Given the description of an element on the screen output the (x, y) to click on. 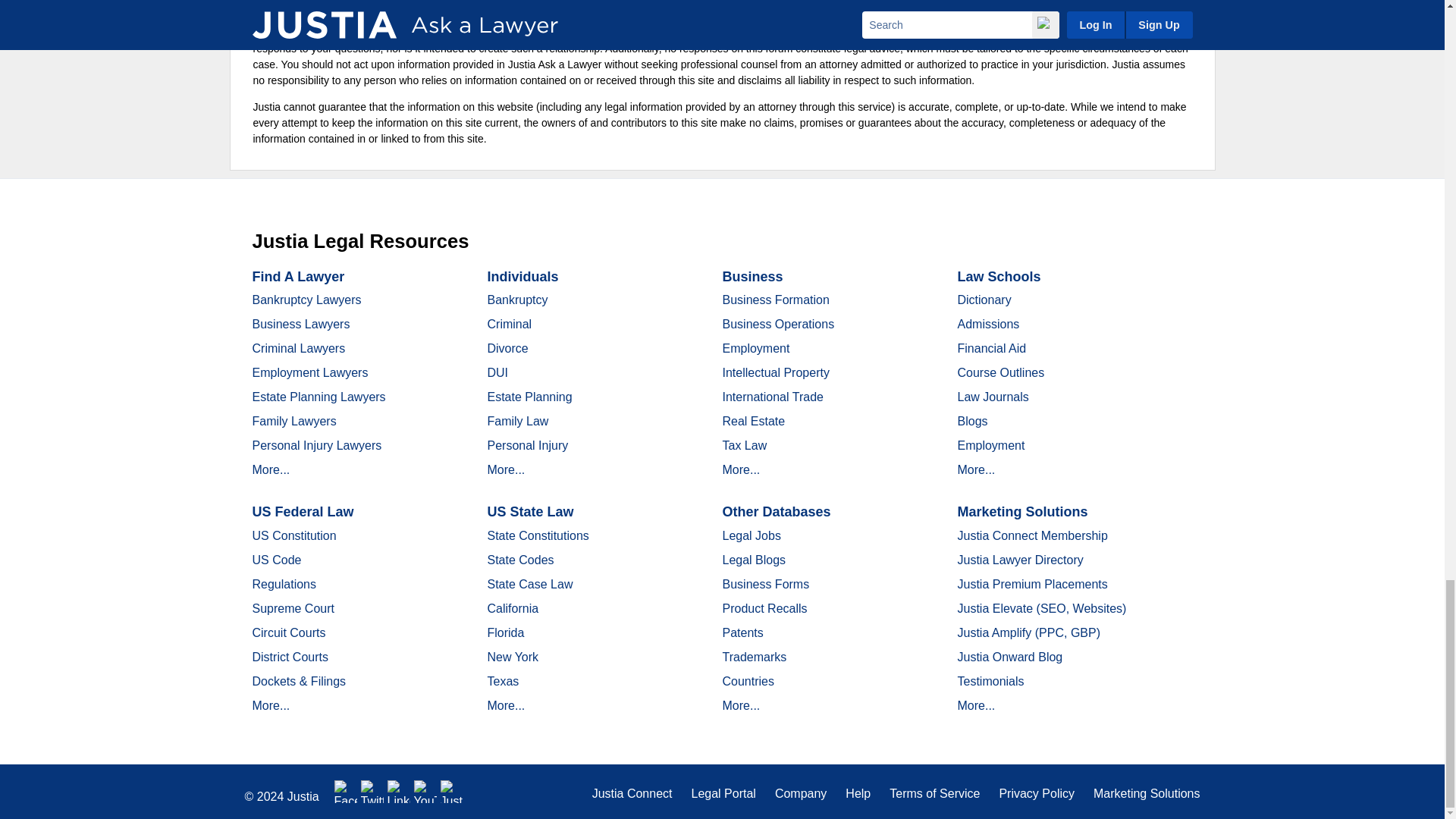
Facebook (345, 791)
